Given the description of an element on the screen output the (x, y) to click on. 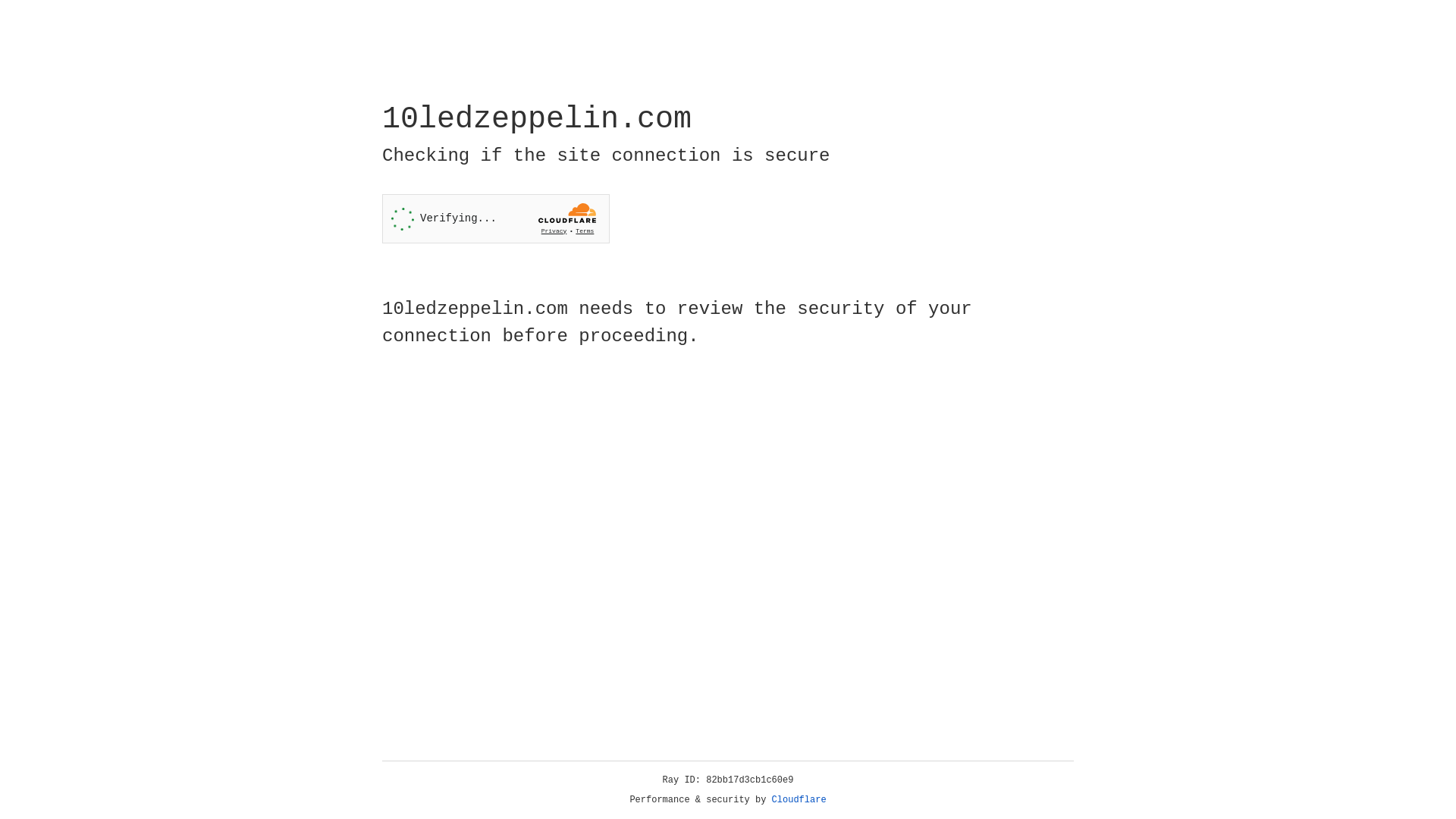
Widget containing a Cloudflare security challenge Element type: hover (495, 218)
Cloudflare Element type: text (798, 799)
